Given the description of an element on the screen output the (x, y) to click on. 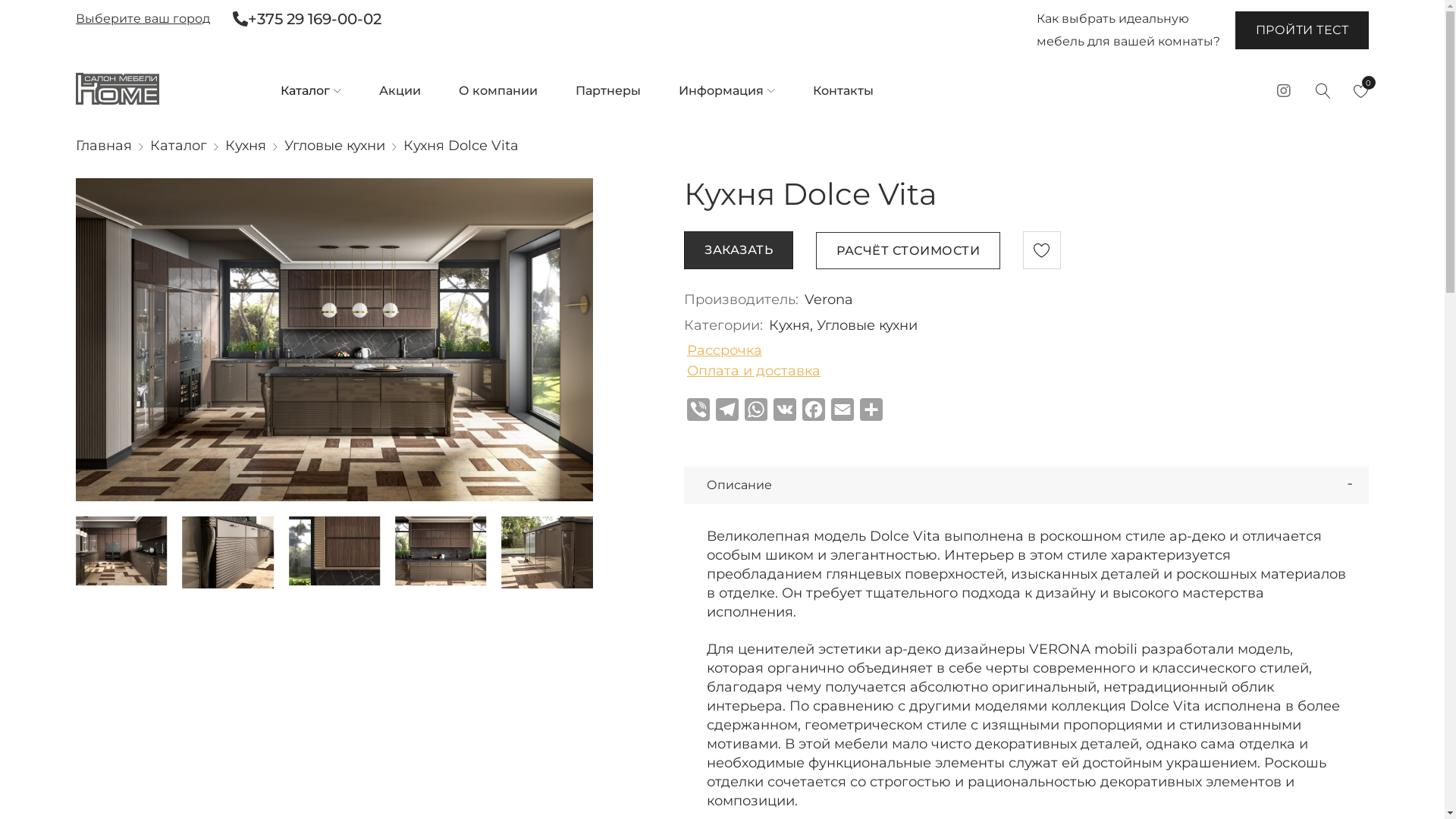
Verona Element type: text (828, 299)
Facebook Element type: text (813, 413)
Dolce-Vita-1_3 Element type: hover (227, 552)
+375 29 169-00-02 Element type: text (306, 18)
VK Element type: text (784, 413)
Search Element type: text (216, 128)
Telegram Element type: text (726, 413)
Dolce-Vita-1_2 Element type: hover (120, 550)
Dolce-Vita-1_1 Element type: hover (334, 339)
Dolce-Vita-1_5 Element type: hover (440, 550)
Email Element type: text (842, 413)
Dolce-Vita-1_6 Element type: hover (546, 552)
WhatsApp Element type: text (755, 413)
Dolce-Vita-1_4 Element type: hover (333, 550)
Viber Element type: text (698, 413)
